Given the description of an element on the screen output the (x, y) to click on. 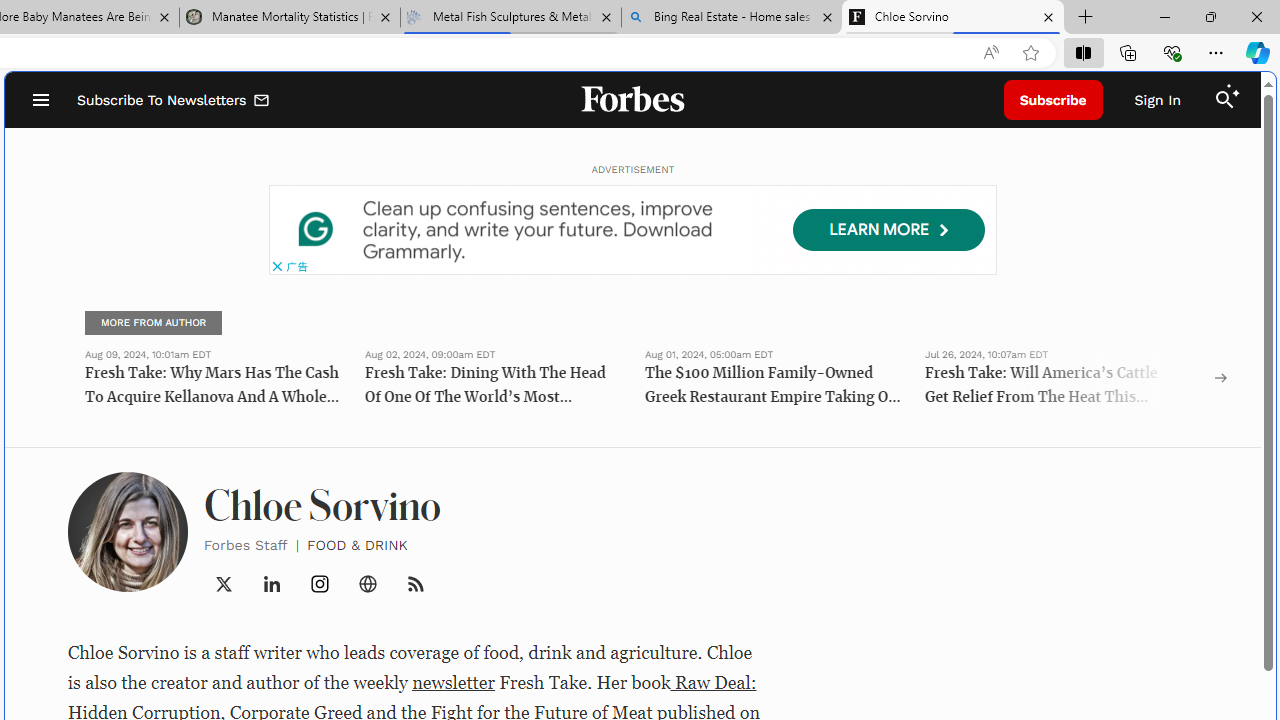
newsletter (453, 681)
Class: OesMt (319, 583)
Class: search_svg__fs-icon search_svg__fs-icon--search (1224, 99)
Manatee Mortality Statistics | FWC (290, 17)
Open Navigation Menu (40, 99)
